Given the description of an element on the screen output the (x, y) to click on. 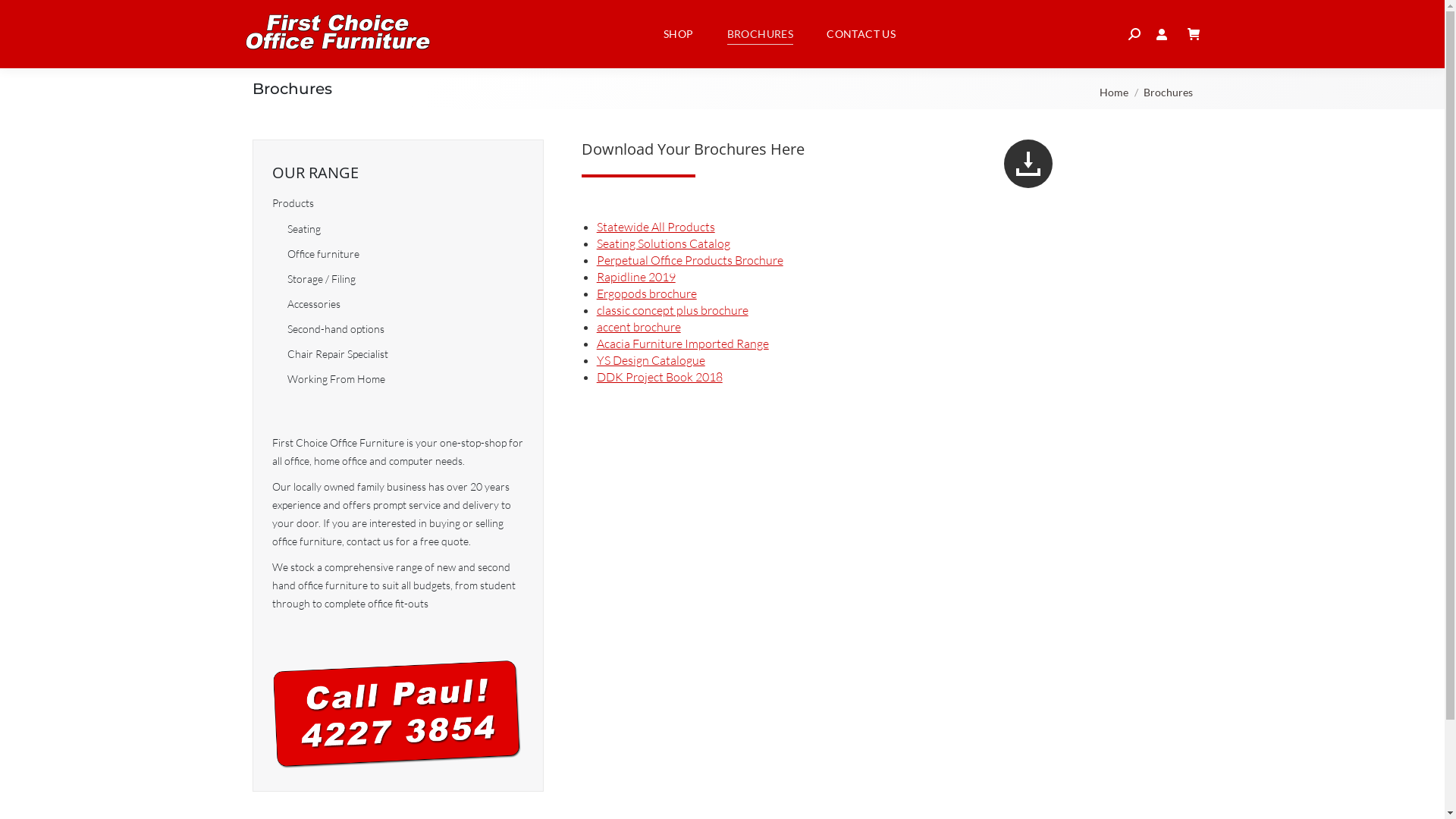
Statewide All Products Element type: text (655, 226)
Ergopods brochure Element type: text (646, 293)
Seating Element type: text (303, 228)
Perpetual Office Products Brochure Element type: text (689, 259)
Office furniture Element type: text (322, 253)
Home Element type: text (1113, 91)
Go! Element type: text (25, 16)
SHOP Element type: text (678, 33)
Products Element type: text (292, 203)
Acacia Furniture Imported Range Element type: text (682, 343)
Chair Repair Specialist Element type: text (336, 354)
DDK Project Book 2018 Element type: text (659, 376)
accent brochure Element type: text (638, 326)
Storage / Filing Element type: text (320, 278)
Second-hand options Element type: text (334, 329)
  Element type: text (1193, 34)
classic concept plus brochure Element type: text (672, 309)
CONTACT US Element type: text (860, 33)
BROCHURES Element type: text (760, 33)
Rapidline 2019 Element type: text (635, 276)
Accessories Element type: text (312, 303)
YS Design Catalogue Element type: text (650, 359)
Seating Solutions Catalog Element type: text (663, 243)
Working From Home Element type: text (335, 379)
